Given the description of an element on the screen output the (x, y) to click on. 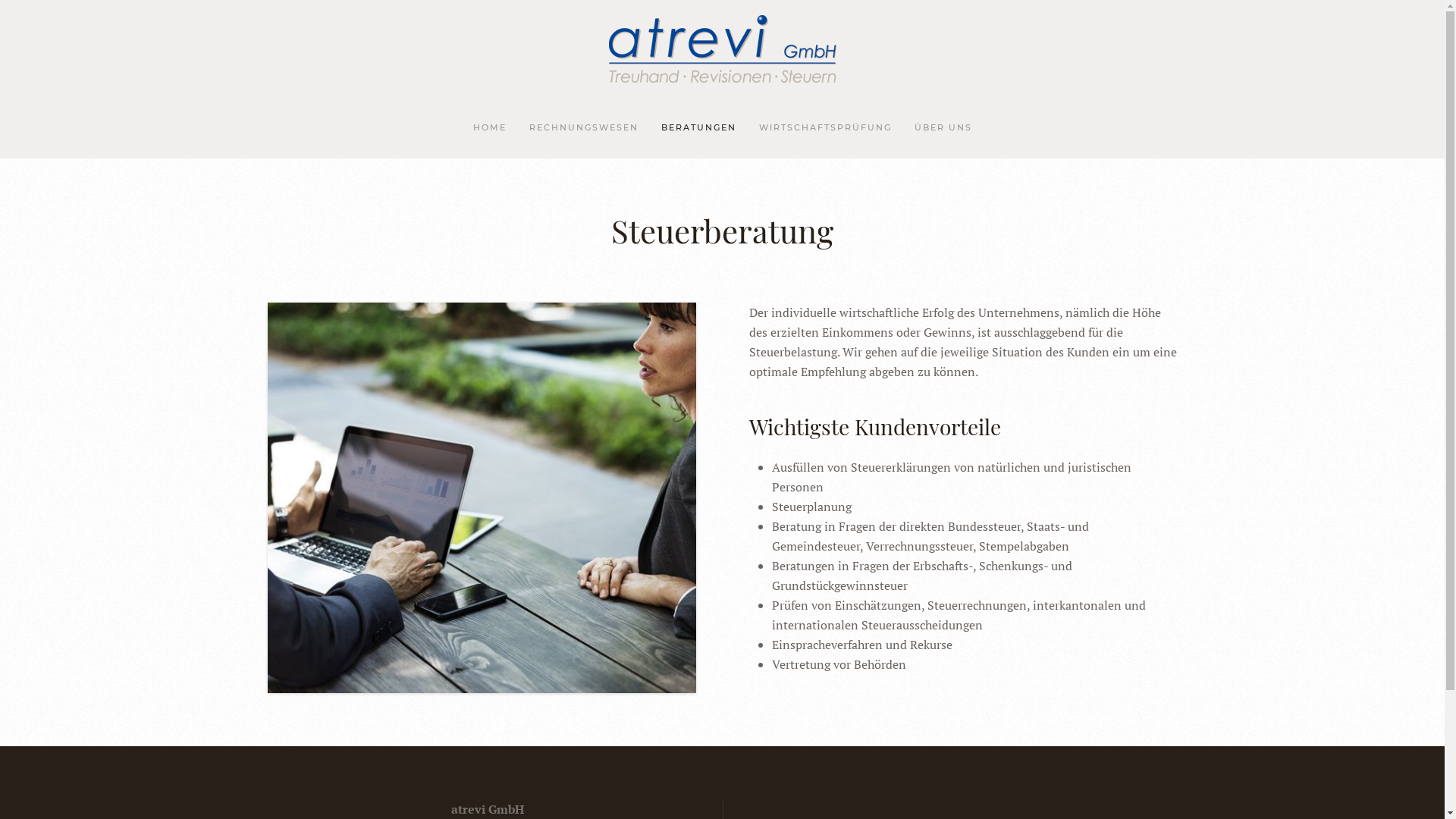
HOME Element type: text (489, 127)
RECHNUNGSWESEN Element type: text (583, 127)
BERATUNGEN Element type: text (697, 127)
